Given the description of an element on the screen output the (x, y) to click on. 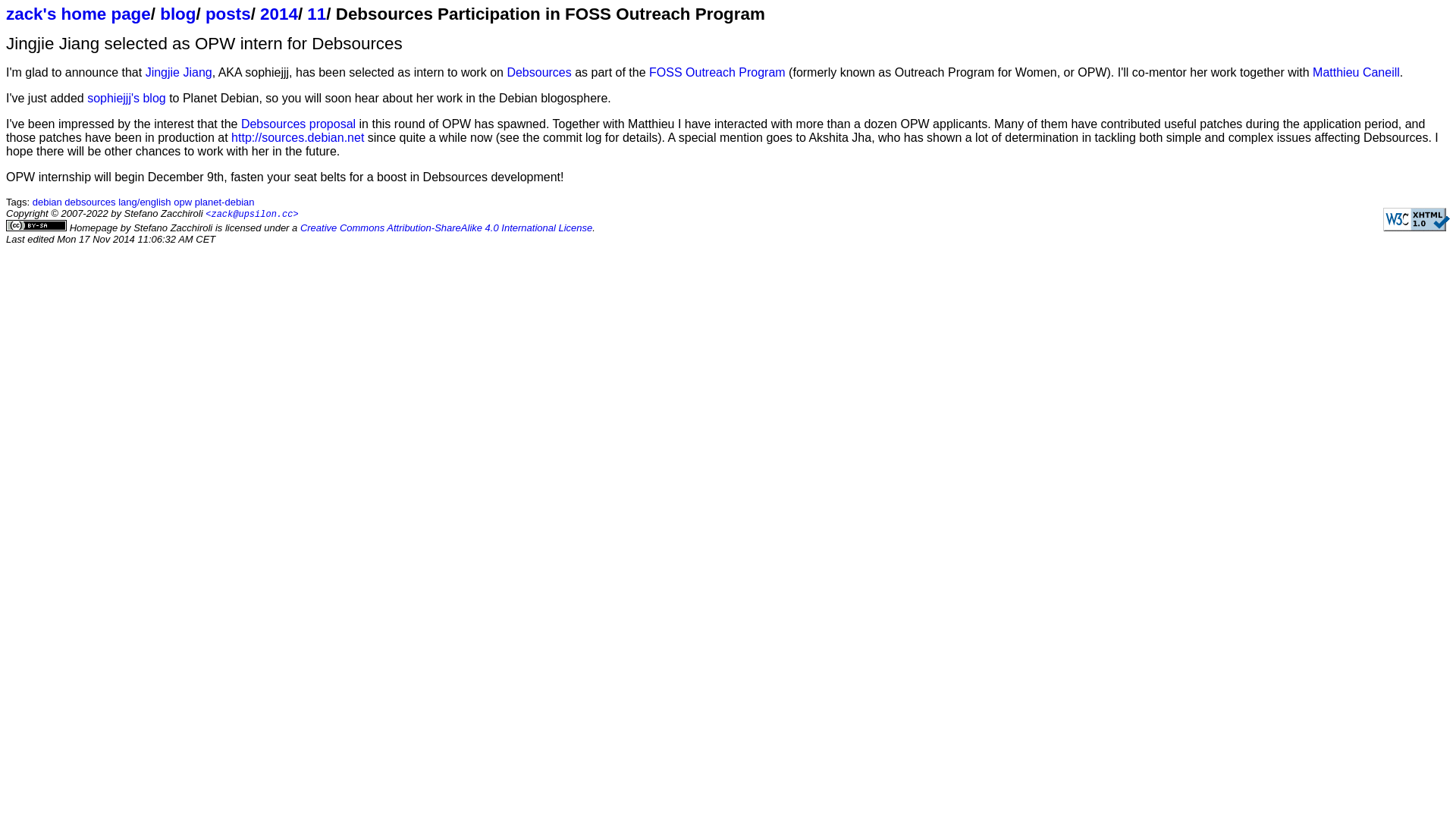
opw Element type: text (182, 201)
Debsources proposal Element type: text (298, 123)
sophiejjj's blog Element type: text (126, 97)
FOSS Outreach Program Element type: text (717, 71)
zack's home page Element type: text (78, 13)
lang/english Element type: text (144, 201)
blog Element type: text (177, 13)
planet-debian Element type: text (224, 201)
posts Element type: text (228, 13)
2014 Element type: text (279, 13)
debsources Element type: text (89, 201)
Matthieu Caneill Element type: text (1355, 71)
Jingjie Jiang Element type: text (178, 71)
debian Element type: text (47, 201)
11 Element type: text (316, 13)
http://sources.debian.net Element type: text (297, 137)
<zack@upsilon.cc> Element type: text (251, 213)
Debsources Element type: text (538, 71)
